Given the description of an element on the screen output the (x, y) to click on. 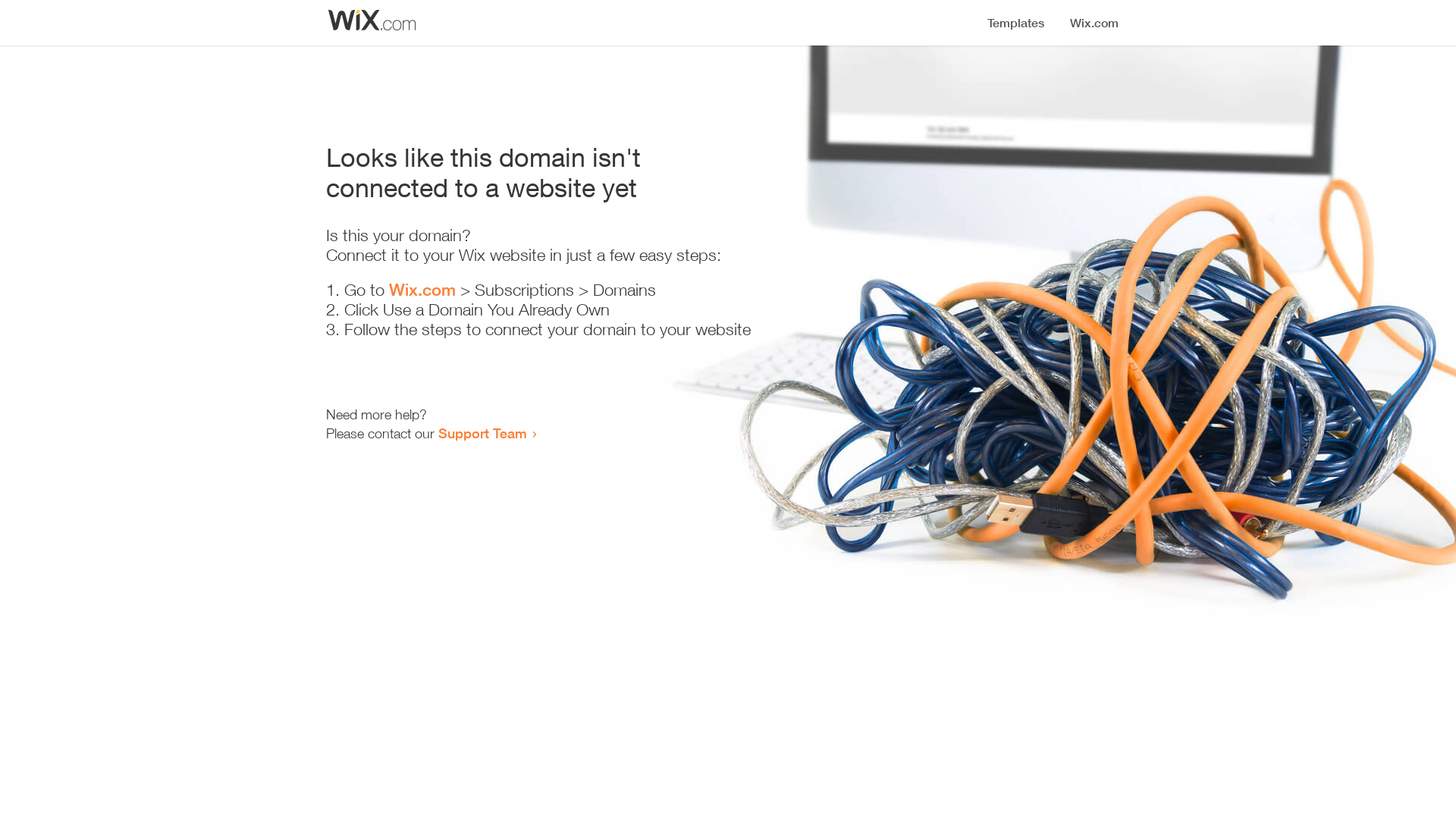
Support Team Element type: text (482, 432)
Wix.com Element type: text (422, 289)
